Given the description of an element on the screen output the (x, y) to click on. 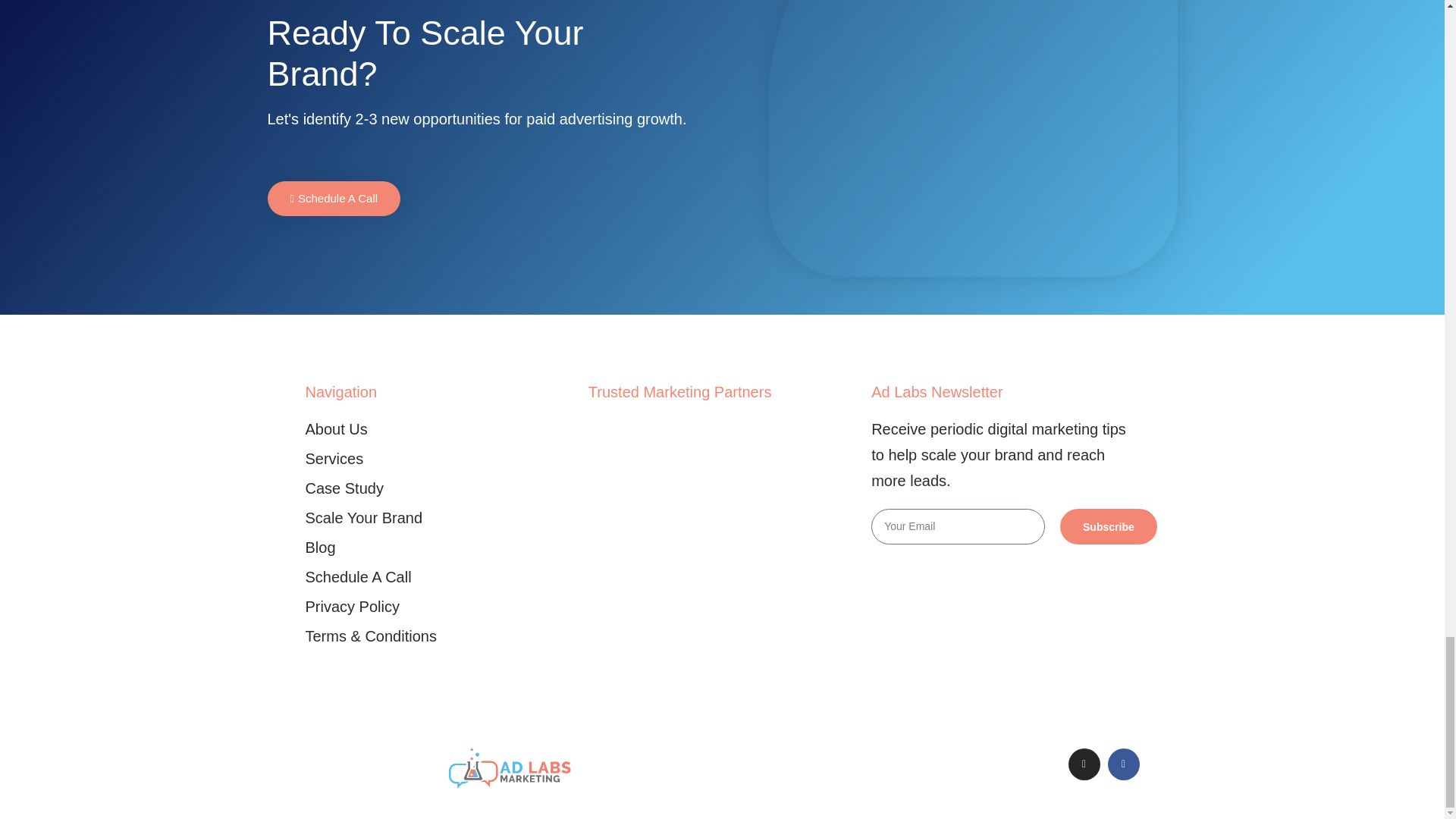
Scale Your Brand (438, 517)
Schedule A Call (333, 198)
Services (438, 458)
Privacy Policy (438, 606)
Case Study (438, 488)
Schedule A Call (438, 576)
About Us (438, 429)
Blog (438, 547)
